Given the description of an element on the screen output the (x, y) to click on. 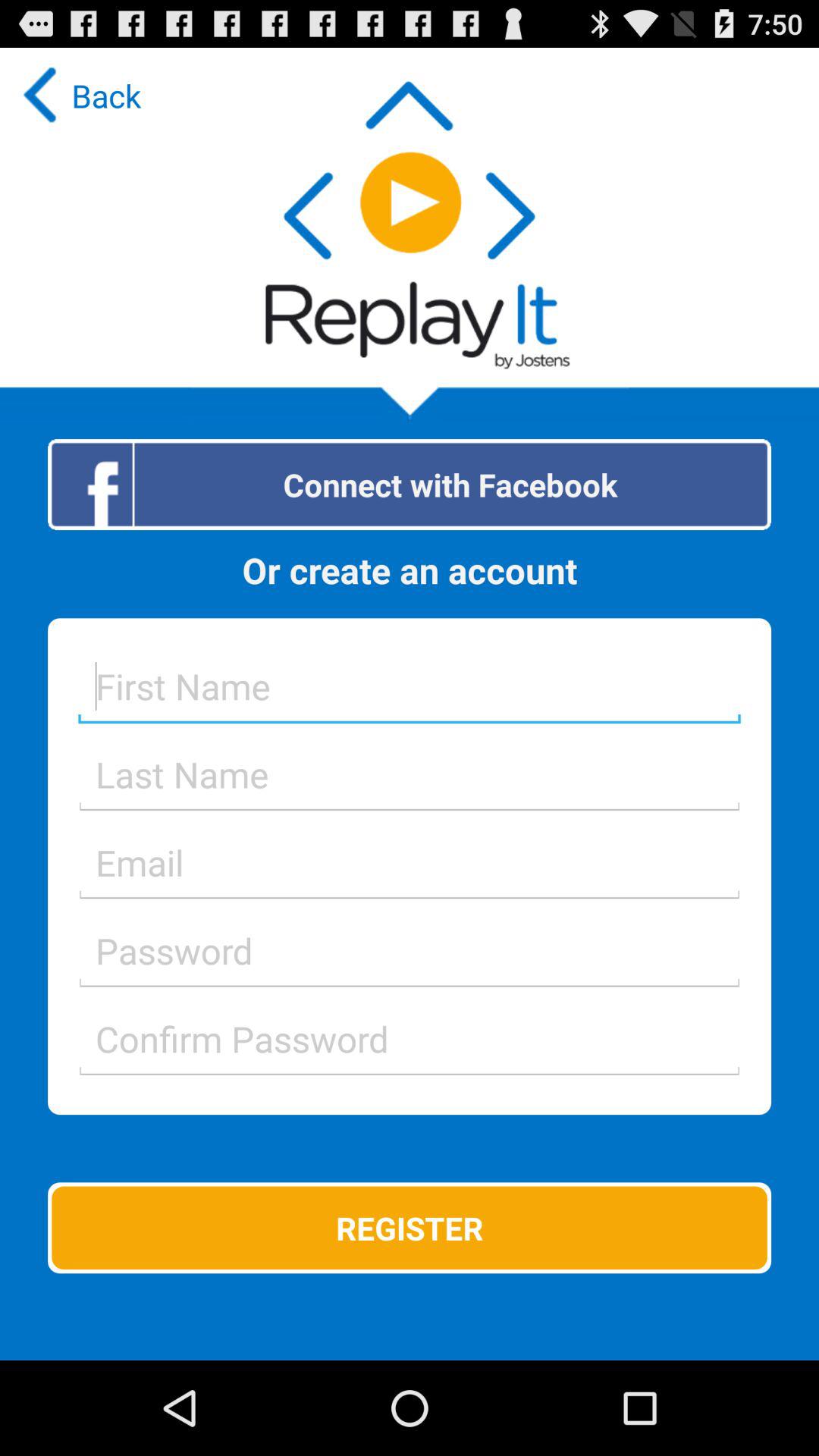
first name goes here (409, 686)
